Given the description of an element on the screen output the (x, y) to click on. 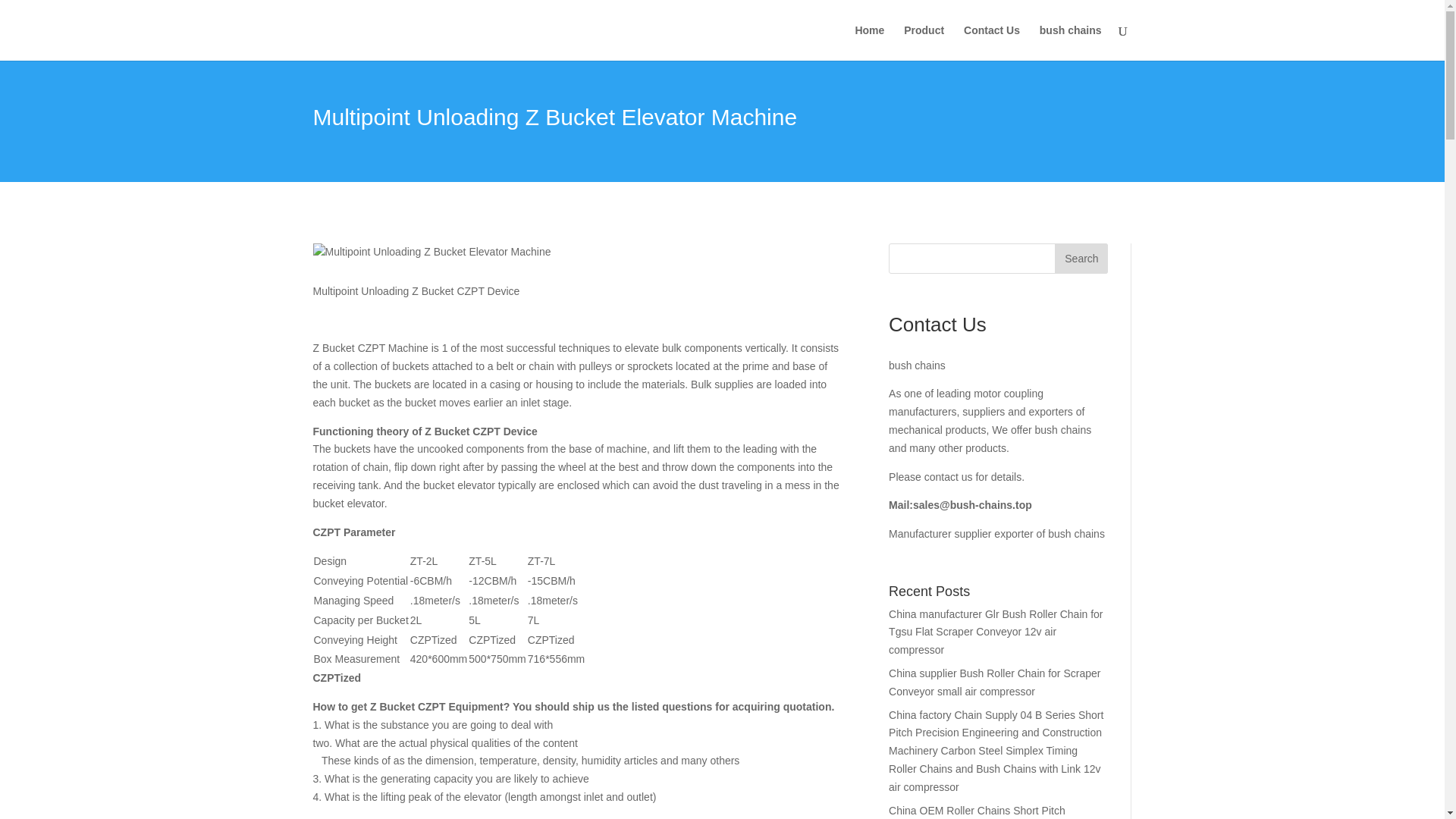
Contact Us (991, 42)
Search (1081, 258)
Multipoint Unloading Z Bucket Elevator Machine (431, 252)
Search (1081, 258)
Product (923, 42)
bush chains (1070, 42)
